Given the description of an element on the screen output the (x, y) to click on. 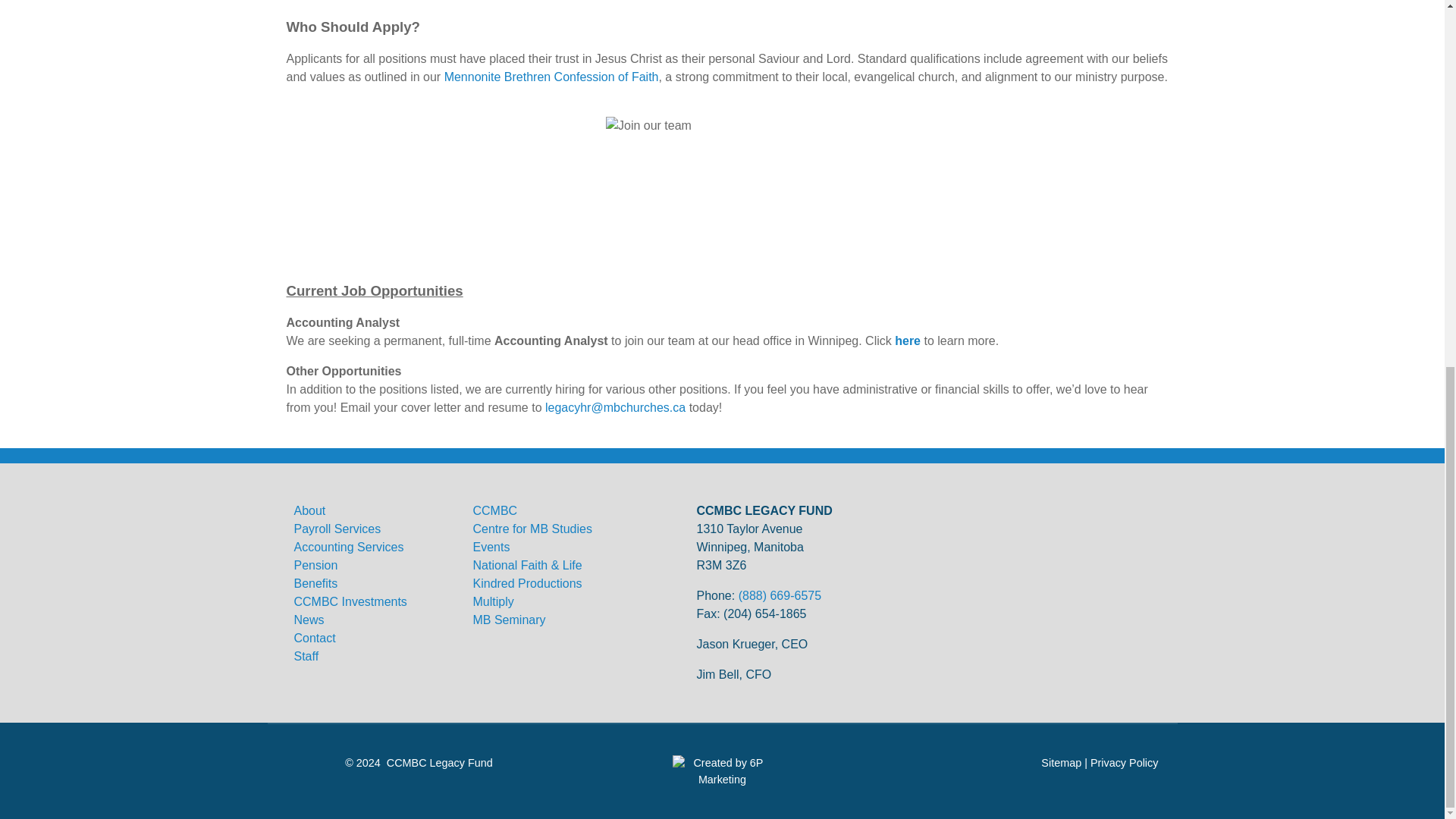
Benefits (315, 592)
About (310, 510)
News (309, 619)
Mennonite Brethren Confession of Faith (551, 76)
Payroll Services (337, 528)
CCMBC Investments (350, 601)
Accounting Services (349, 546)
here (907, 340)
Pension (315, 564)
